Given the description of an element on the screen output the (x, y) to click on. 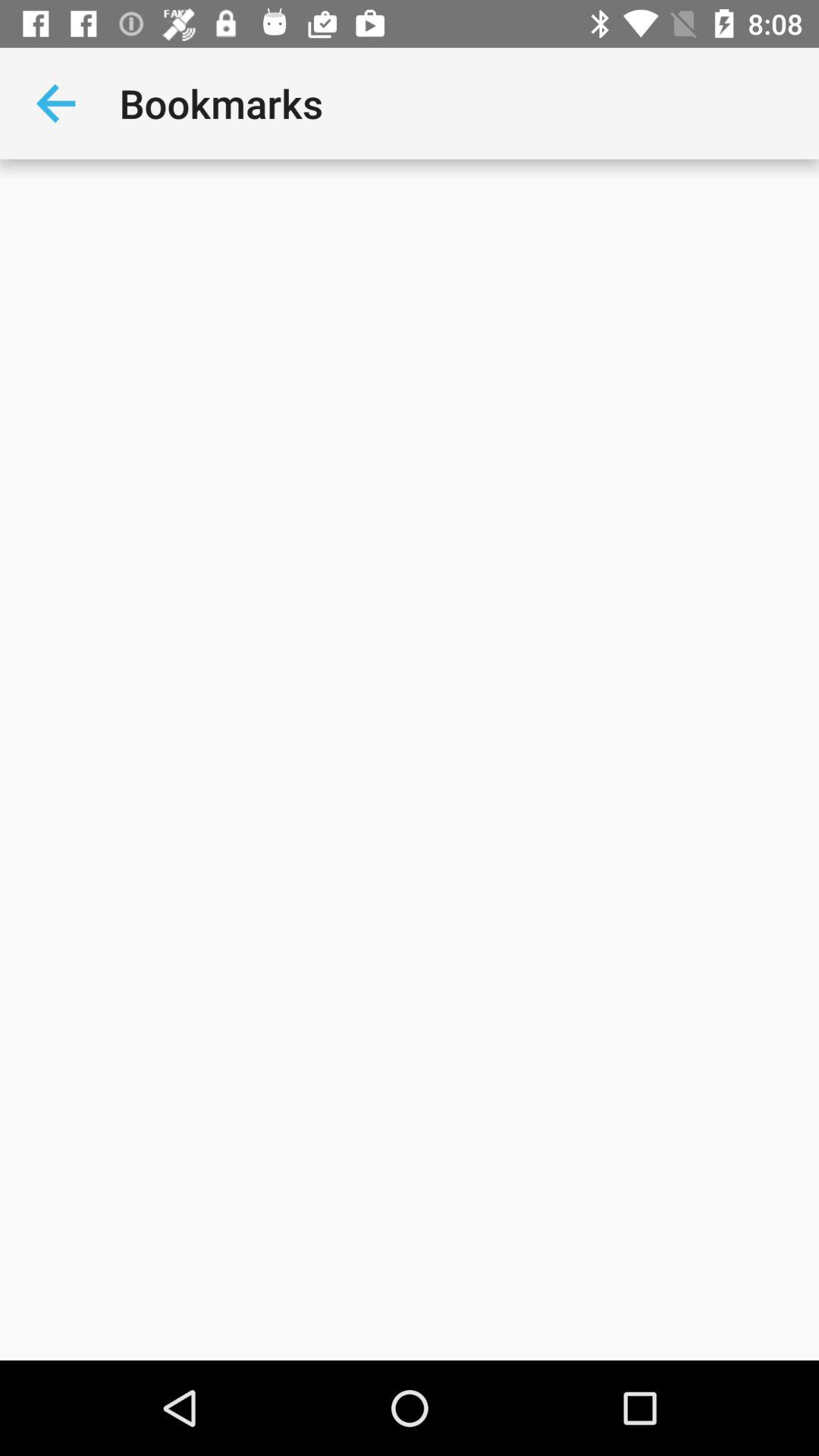
choose item at the center (409, 759)
